Given the description of an element on the screen output the (x, y) to click on. 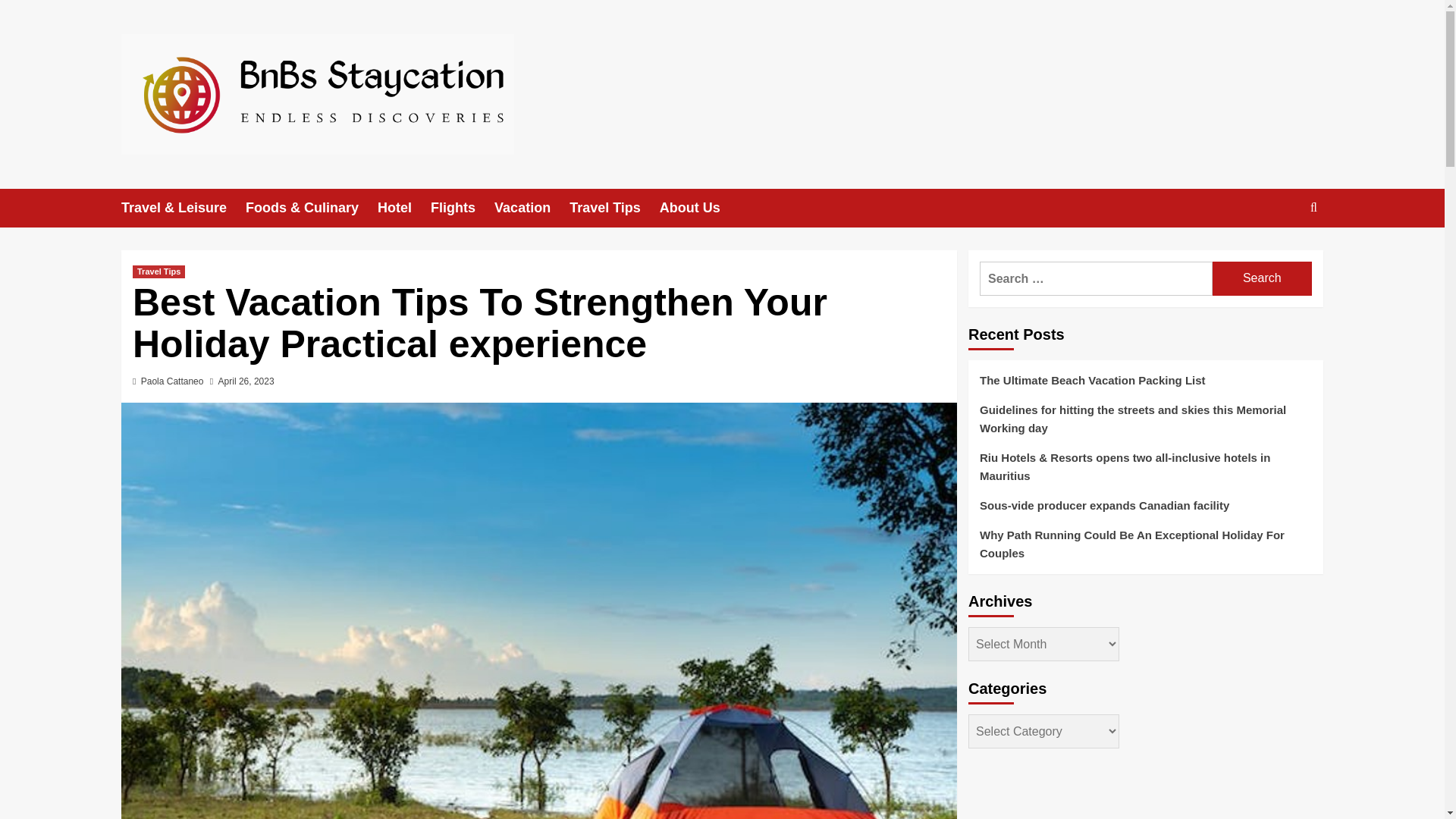
Vacation (532, 208)
Search (1261, 278)
Travel Tips (614, 208)
About Us (699, 208)
Flights (462, 208)
Search (1278, 254)
Search (1261, 278)
Travel Tips (158, 271)
Paola Cattaneo (172, 380)
